Given the description of an element on the screen output the (x, y) to click on. 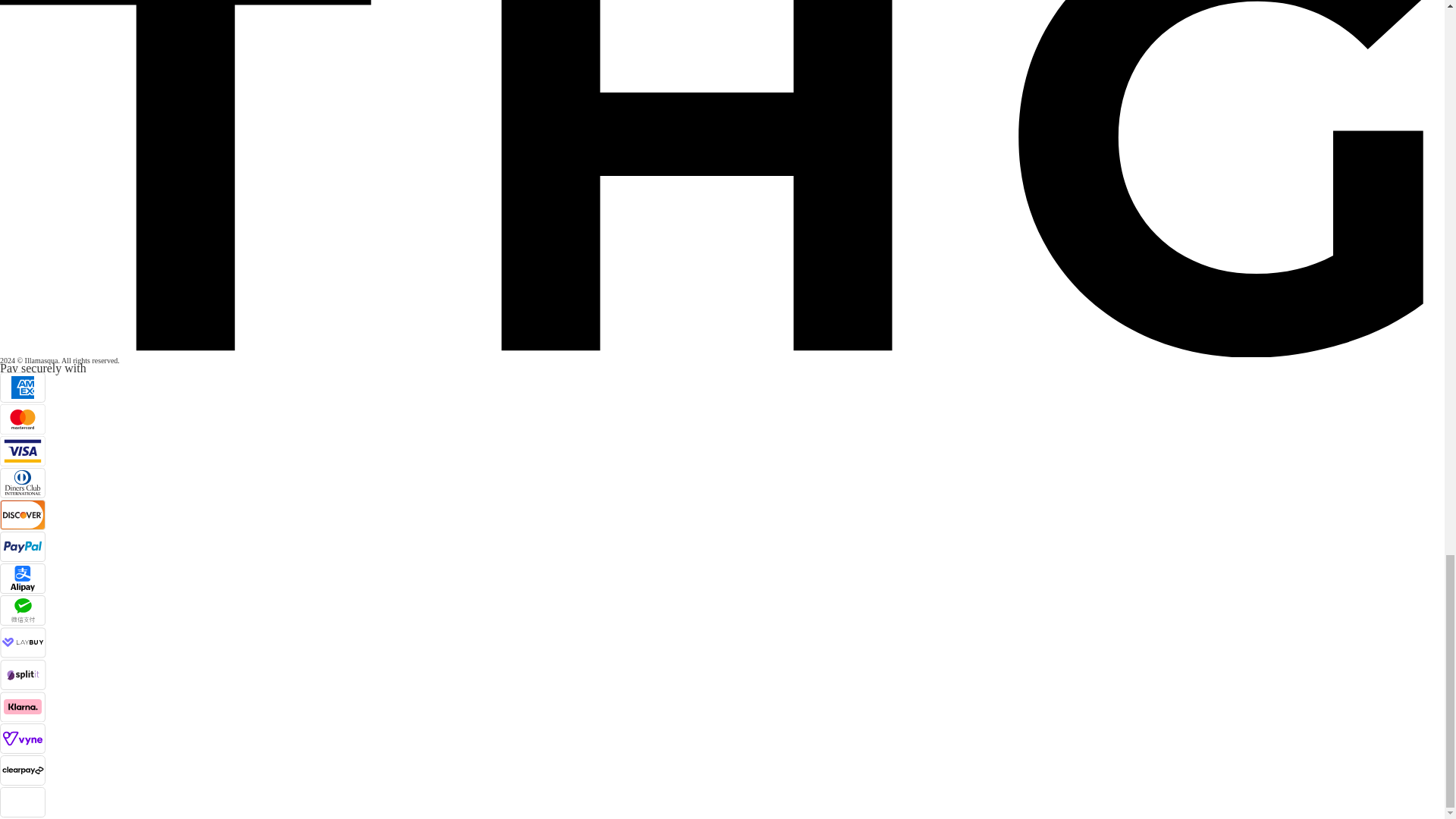
AMEX (22, 387)
PayPal (22, 546)
Discover (22, 514)
Mastercard (22, 419)
WeChat Pay (22, 610)
Alipay (22, 578)
Visa (22, 450)
Diners (22, 482)
